Given the description of an element on the screen output the (x, y) to click on. 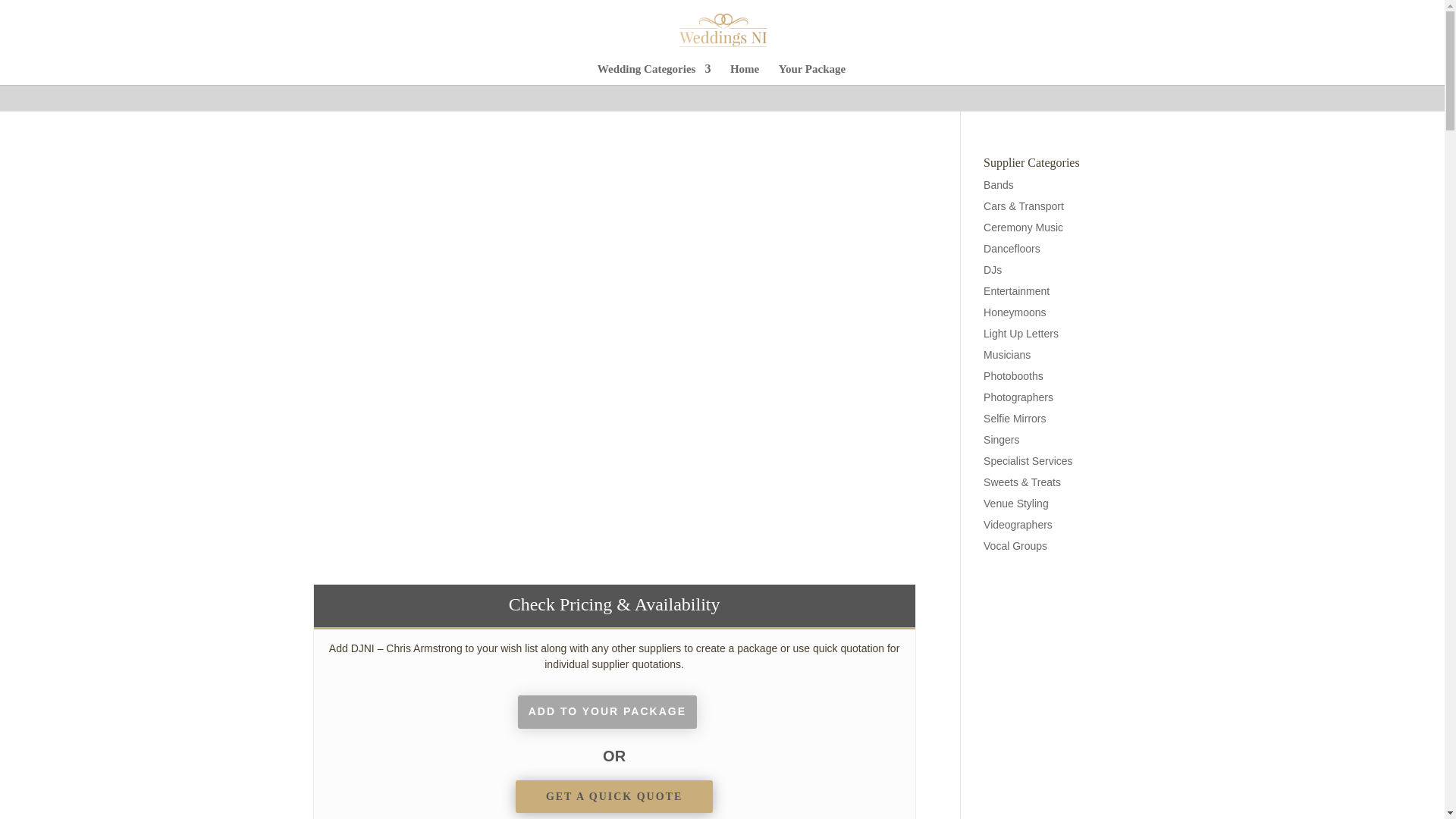
ADD TO YOUR PACKAGE (607, 711)
Your Package (811, 74)
Wedding Categories (653, 74)
GET A QUICK QUOTE (614, 797)
Home (744, 74)
